Given the description of an element on the screen output the (x, y) to click on. 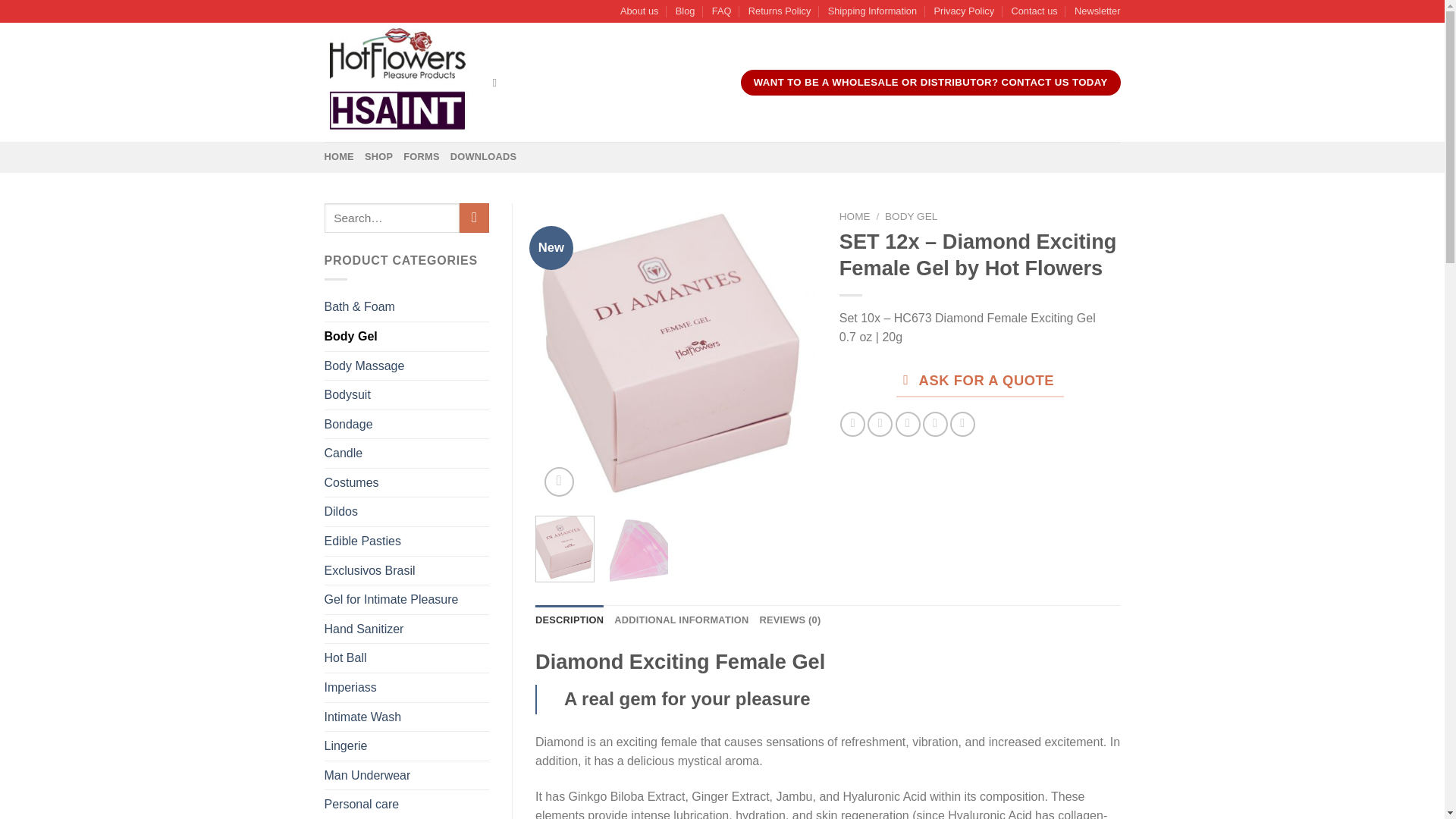
Lingerie (406, 746)
Email to a Friend (907, 423)
Contact us (1033, 11)
Hot Ball (406, 657)
Costumes (406, 482)
Body Massage (406, 366)
Newsletter (1096, 11)
Returns Policy (779, 11)
Share on Facebook (852, 423)
Exclusivos Brasil (406, 570)
Gel for Intimate Pleasure (406, 599)
HOME (338, 156)
Hand Sanitizer (406, 629)
Share on LinkedIn (962, 423)
Intimate Wash (406, 717)
